Given the description of an element on the screen output the (x, y) to click on. 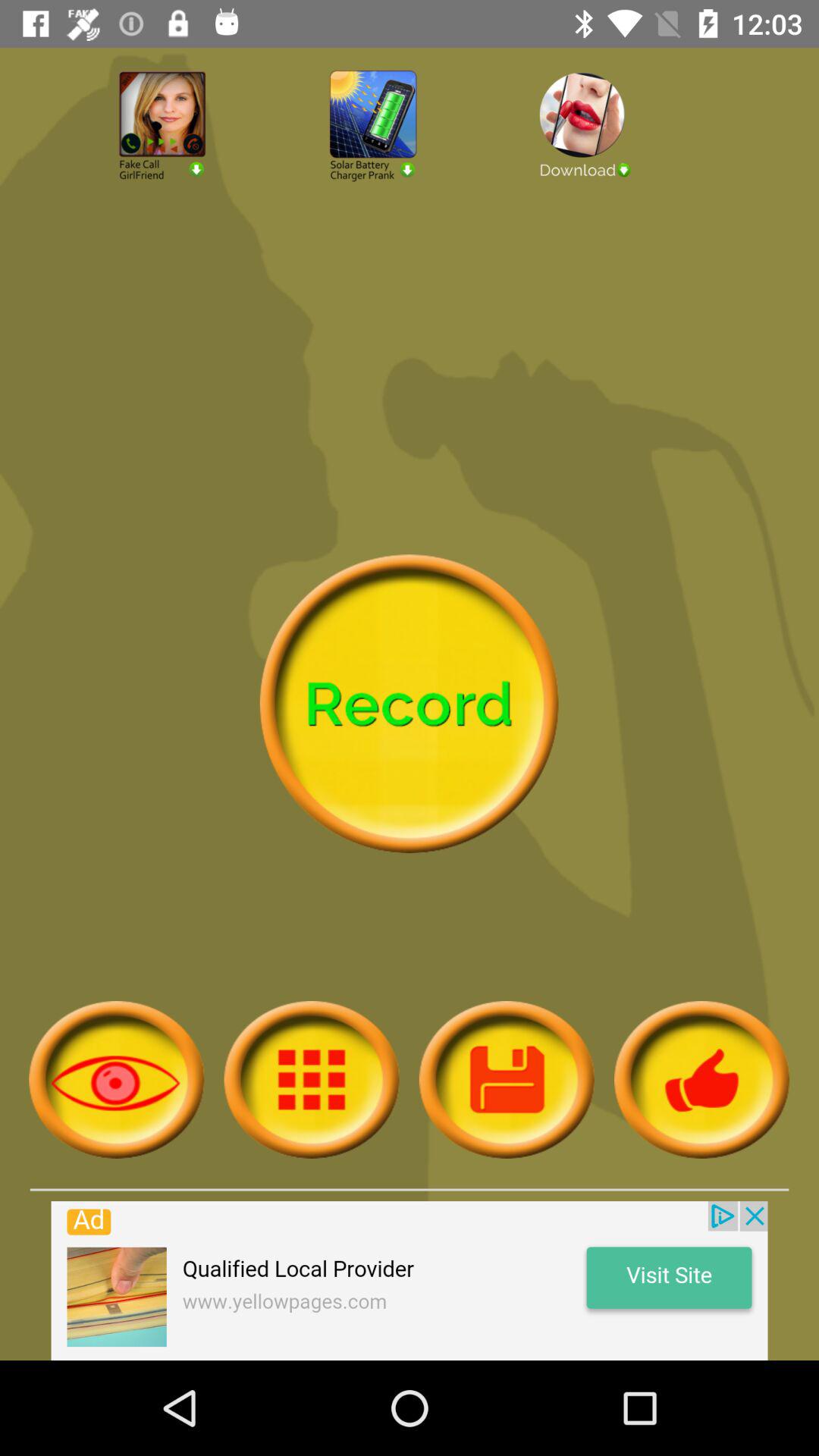
see files (311, 1079)
